Given the description of an element on the screen output the (x, y) to click on. 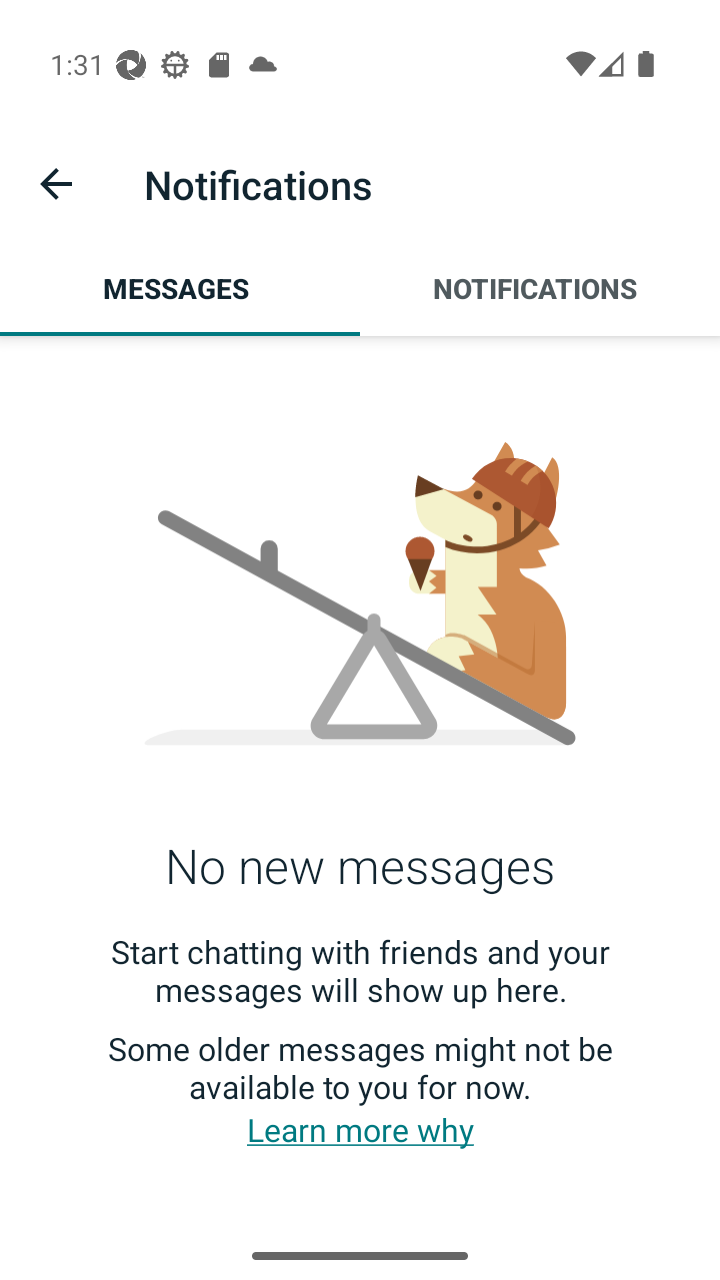
Notifications NOTIFICATIONS (540, 287)
